Given the description of an element on the screen output the (x, y) to click on. 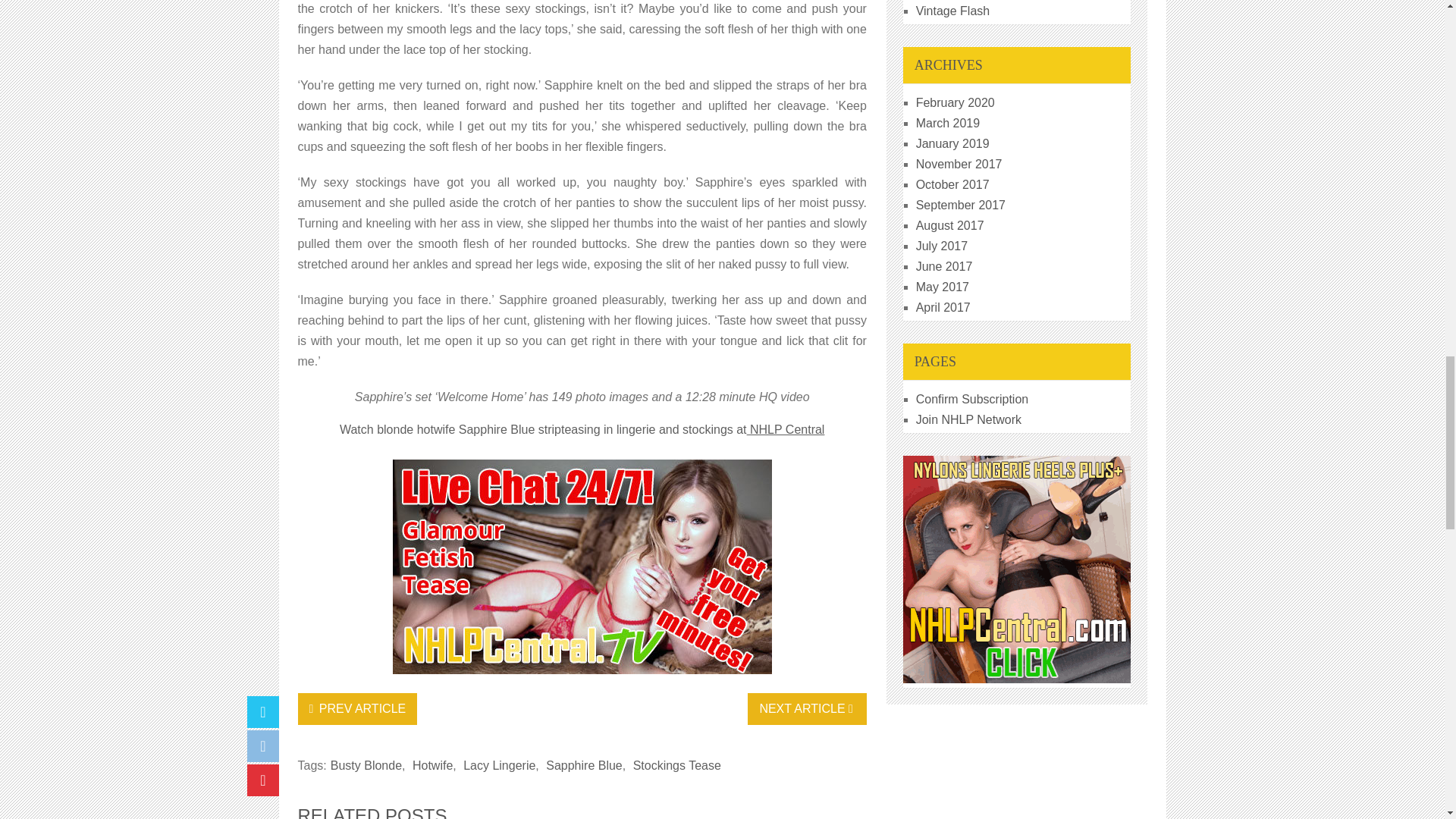
Hotwife (432, 765)
Sapphire Blue (584, 765)
Lacy Lingerie (499, 765)
PREV ARTICLE (356, 708)
NEXT ARTICLE (807, 708)
Busty Blonde (365, 765)
Stockings Tease (676, 765)
